Given the description of an element on the screen output the (x, y) to click on. 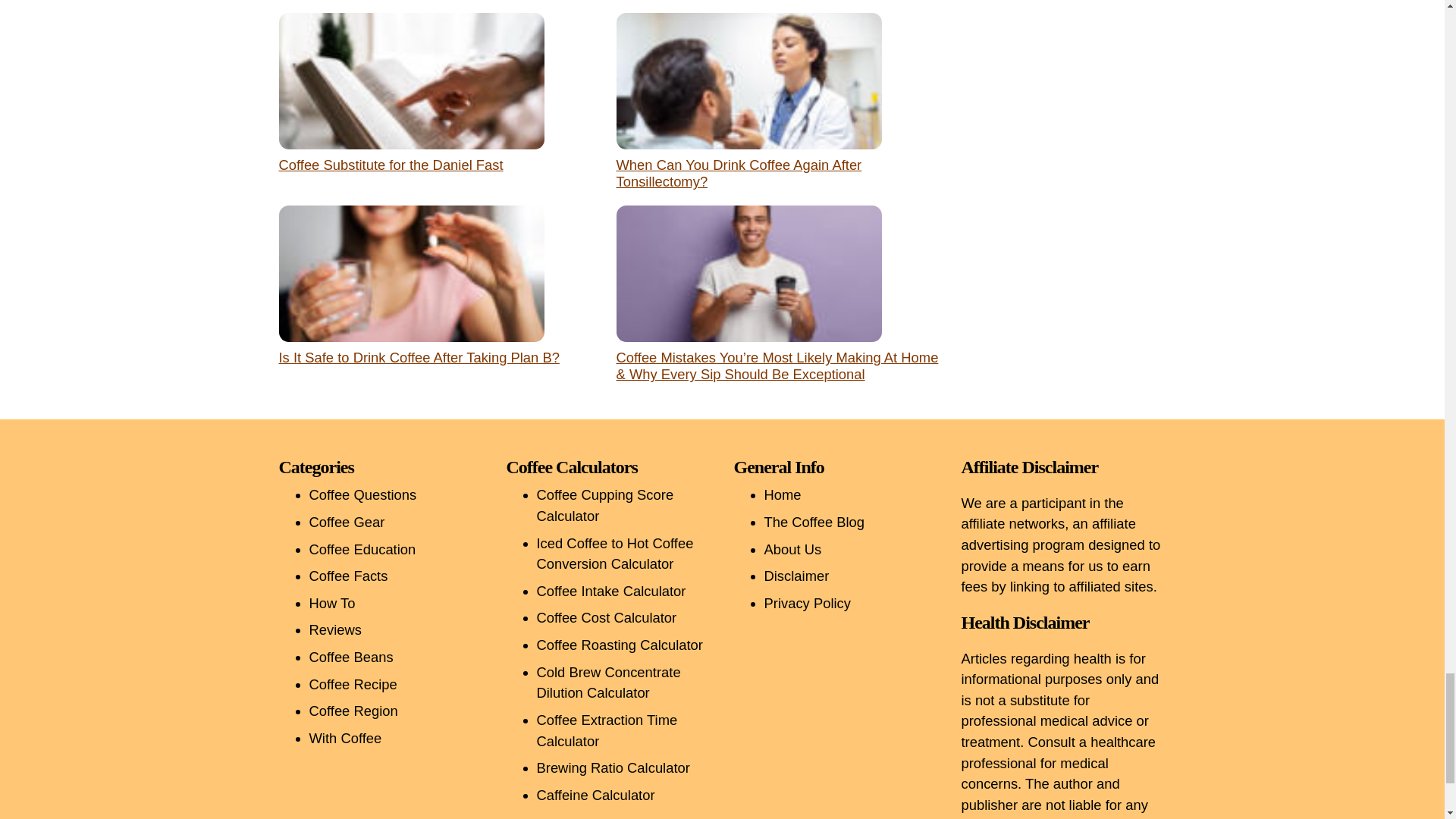
Permanent Link to Coffee Substitute for the Daniel Fast (391, 164)
Is It Safe to Drink Coffee After Taking Plan B? (419, 357)
When Can You Drink Coffee Again After Tonsillectomy? (738, 173)
Coffee Substitute for the Daniel Fast (391, 164)
